Given the description of an element on the screen output the (x, y) to click on. 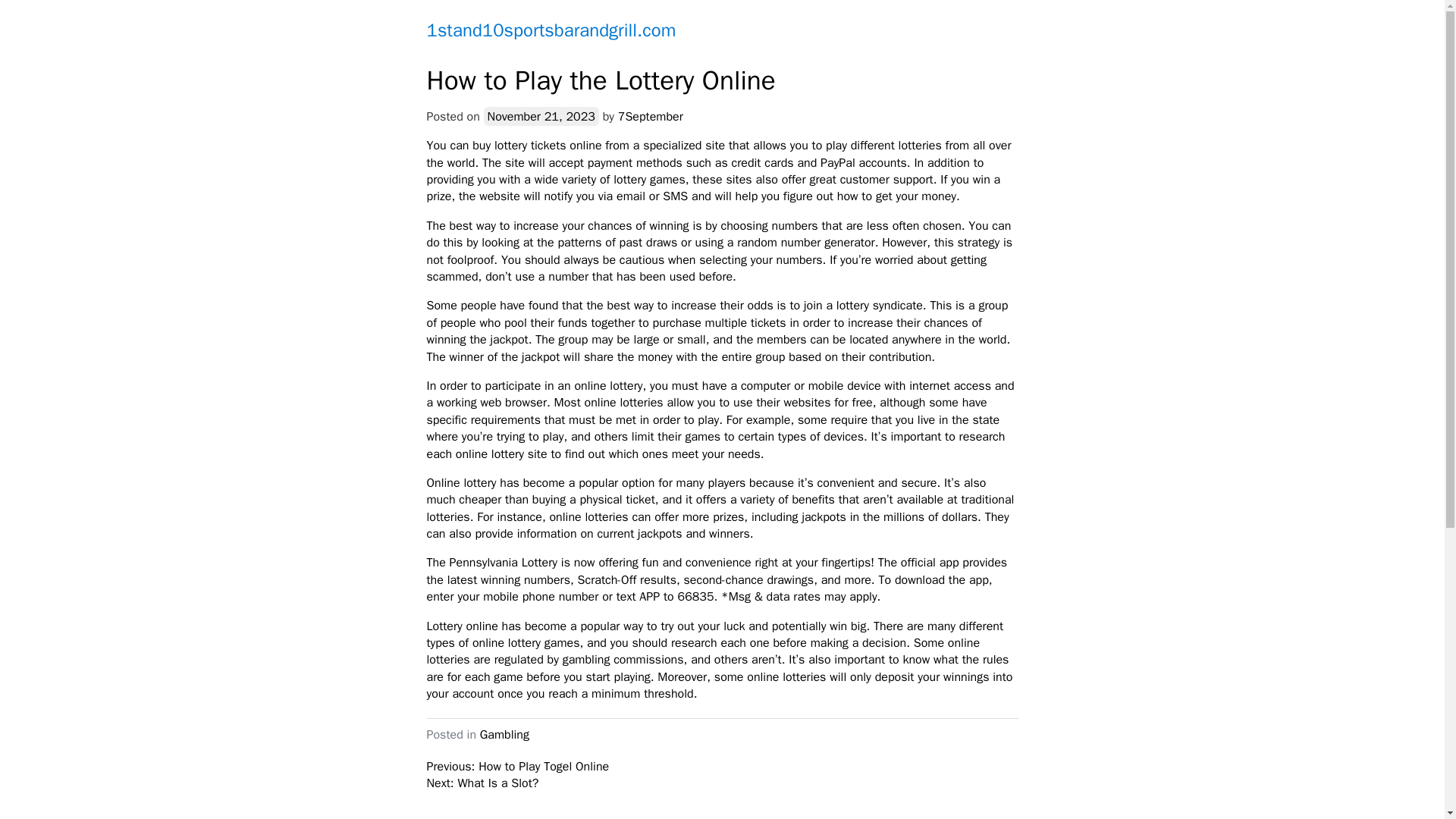
Gambling (504, 734)
Next: What Is a Slot? (482, 783)
November 21, 2023 (540, 116)
